Given the description of an element on the screen output the (x, y) to click on. 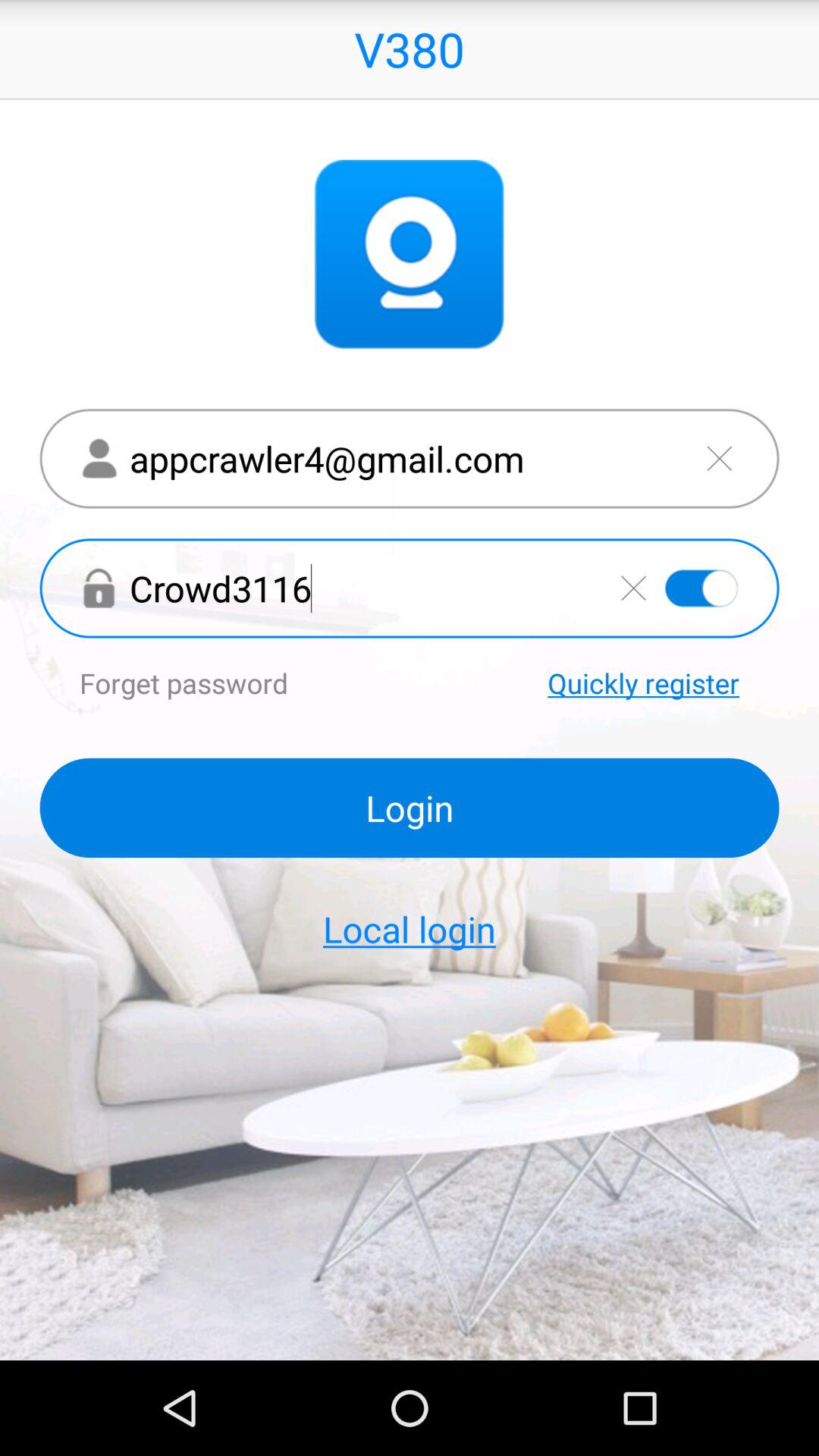
remove entry (719, 458)
